Given the description of an element on the screen output the (x, y) to click on. 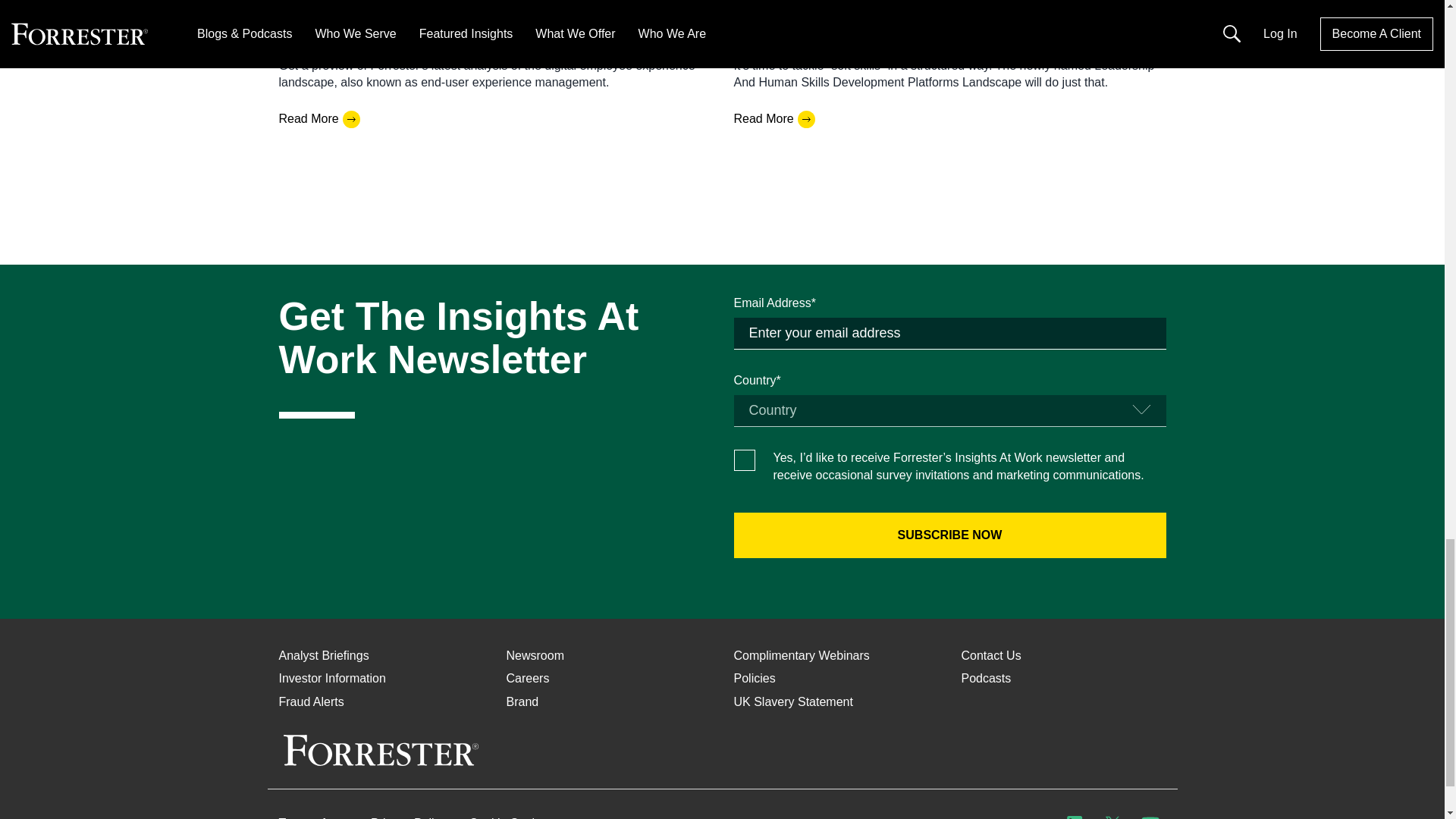
Andrew Hewitt (317, 6)
Subscribe Now (949, 534)
Katy Tynan (763, 6)
